Given the description of an element on the screen output the (x, y) to click on. 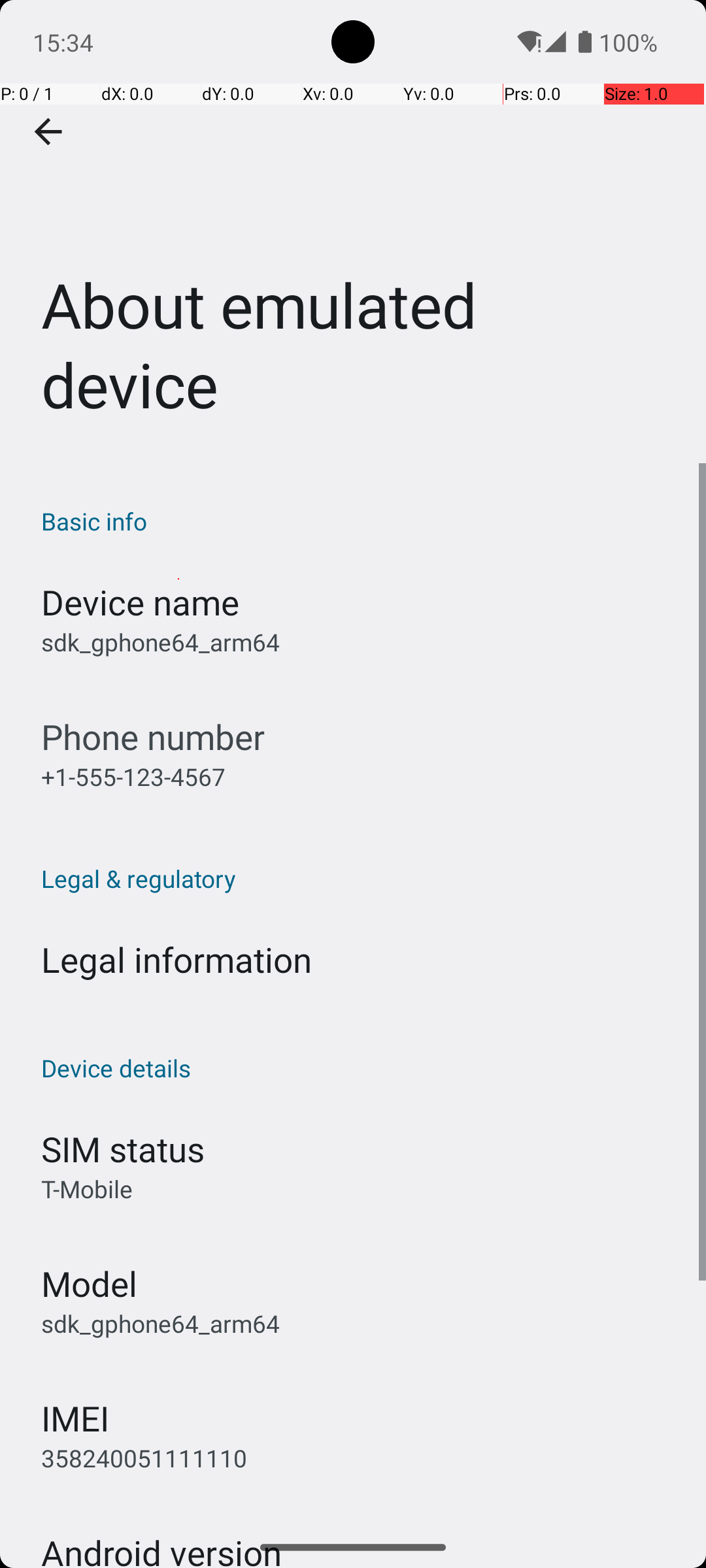
About emulated device Element type: android.widget.FrameLayout (353, 231)
Basic info Element type: android.widget.TextView (359, 520)
Phone number Element type: android.widget.TextView (152, 736)
+1-555-123-4567 Element type: android.widget.TextView (133, 776)
Legal & regulatory Element type: android.widget.TextView (359, 878)
Legal information Element type: android.widget.TextView (176, 959)
Device details Element type: android.widget.TextView (359, 1067)
SIM status Element type: android.widget.TextView (122, 1148)
Model Element type: android.widget.TextView (89, 1283)
IMEI Element type: android.widget.TextView (75, 1417)
358240051111110 Element type: android.widget.TextView (144, 1457)
